Given the description of an element on the screen output the (x, y) to click on. 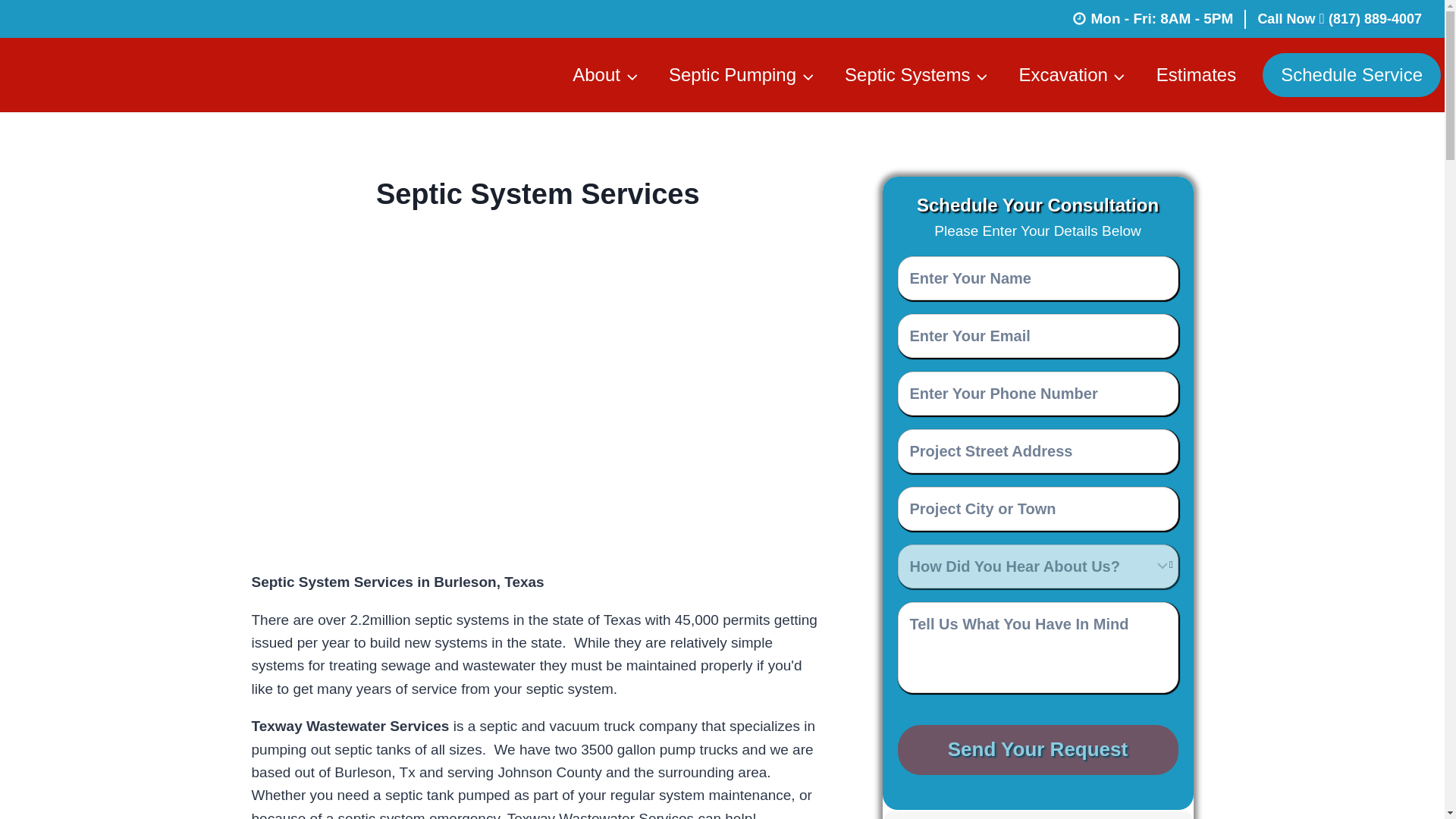
About (605, 74)
Send Your Request (1037, 749)
Schedule Service (1351, 75)
Excavation (1071, 74)
Estimates (1195, 74)
Septic Pumping (741, 74)
Septic Systems (916, 74)
